Given the description of an element on the screen output the (x, y) to click on. 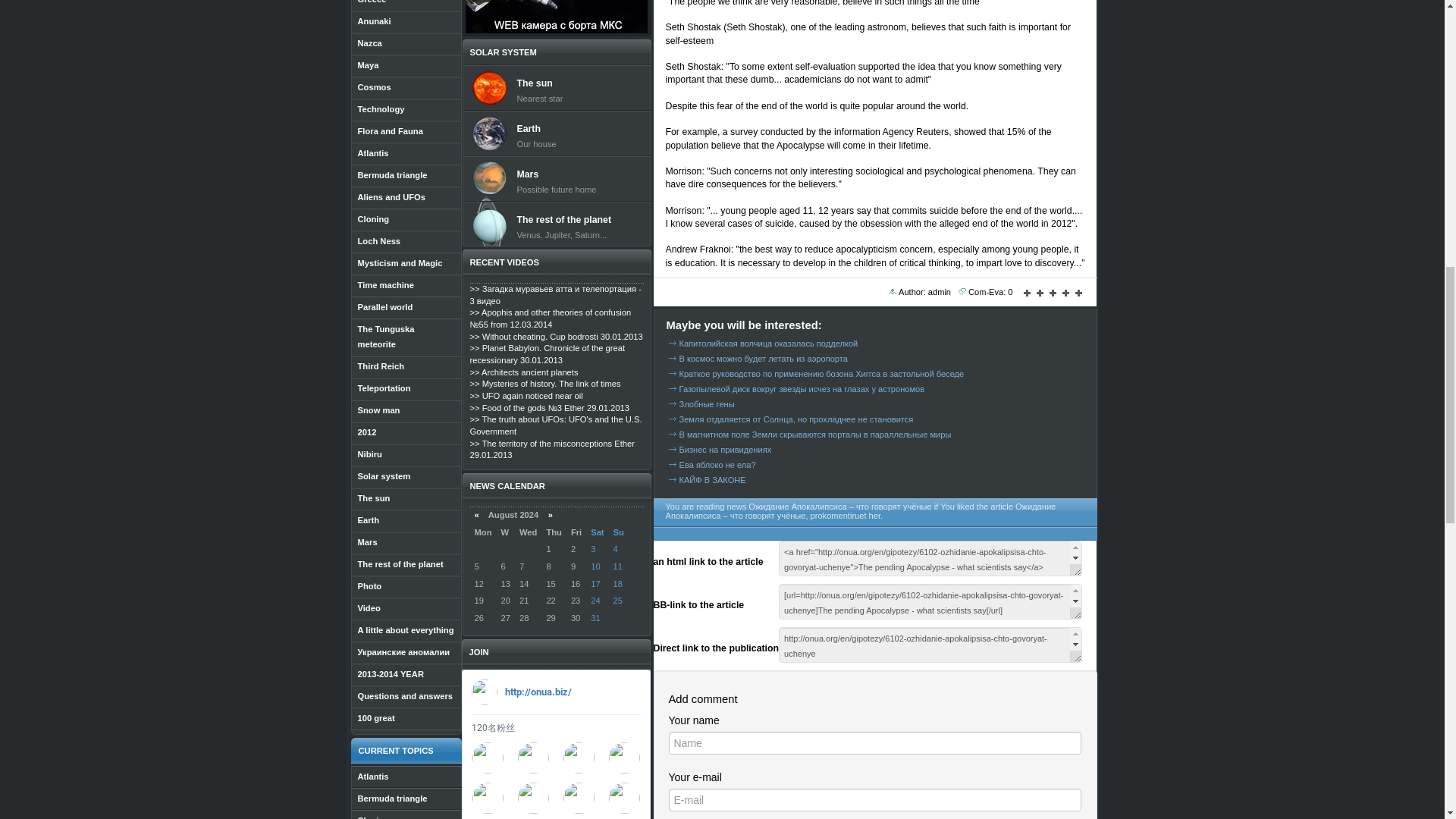
Anunaki (405, 21)
Technology (405, 109)
Greece (405, 5)
Cosmos (405, 87)
Nazca (405, 43)
Maya (405, 65)
Greece (405, 5)
